Given the description of an element on the screen output the (x, y) to click on. 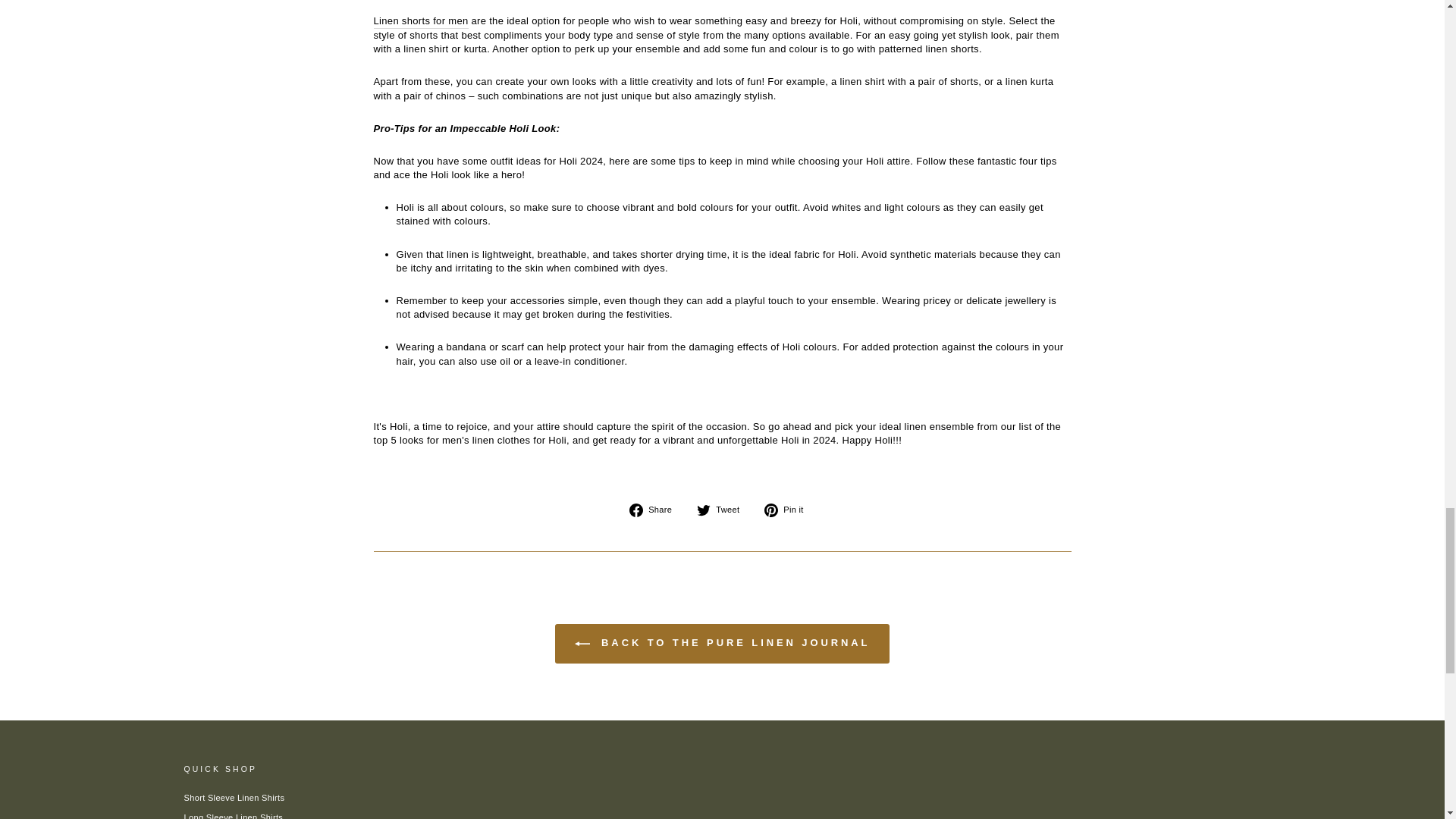
Pin on Pinterest (788, 510)
Tweet on Twitter (724, 510)
Share on Facebook (655, 510)
twitter (703, 509)
ICON-LEFT-ARROW (582, 643)
